Given the description of an element on the screen output the (x, y) to click on. 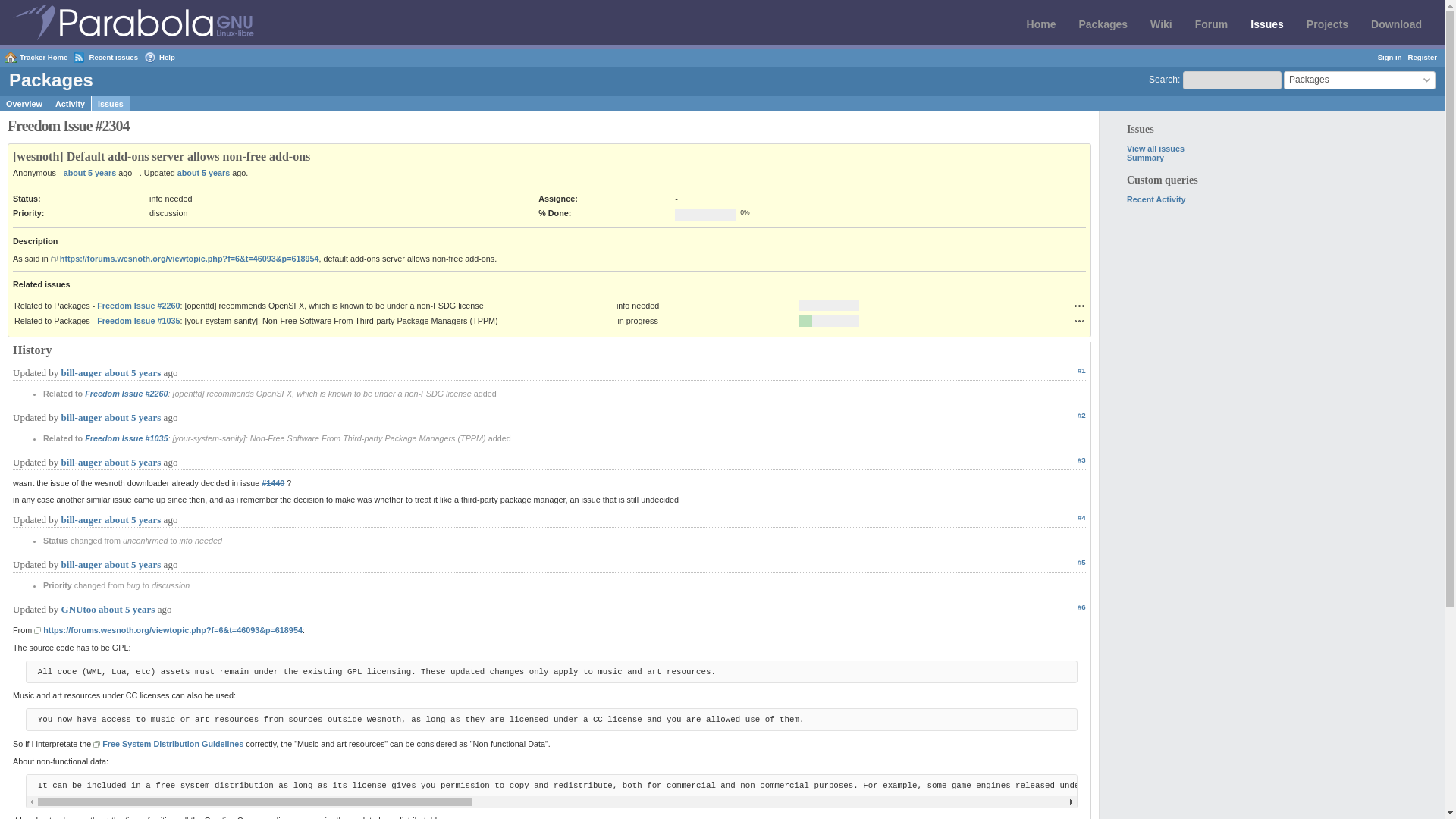
about 5 years (132, 372)
bill-auger (81, 372)
2019-04-28 11:09 PM (132, 564)
Packages (1102, 24)
2019-04-28 10:46 PM (90, 172)
2019-04-28 11:09 PM (132, 461)
2019-04-28 11:08 PM (132, 417)
Summary (1144, 157)
Issue Tracker (1267, 24)
about 5 years (90, 172)
2019-05-02 09:05 PM (126, 609)
View all issues (1155, 148)
2019-05-03 12:32 AM (203, 172)
Get Parabola (1396, 24)
2019-04-28 11:07 PM (132, 372)
